Given the description of an element on the screen output the (x, y) to click on. 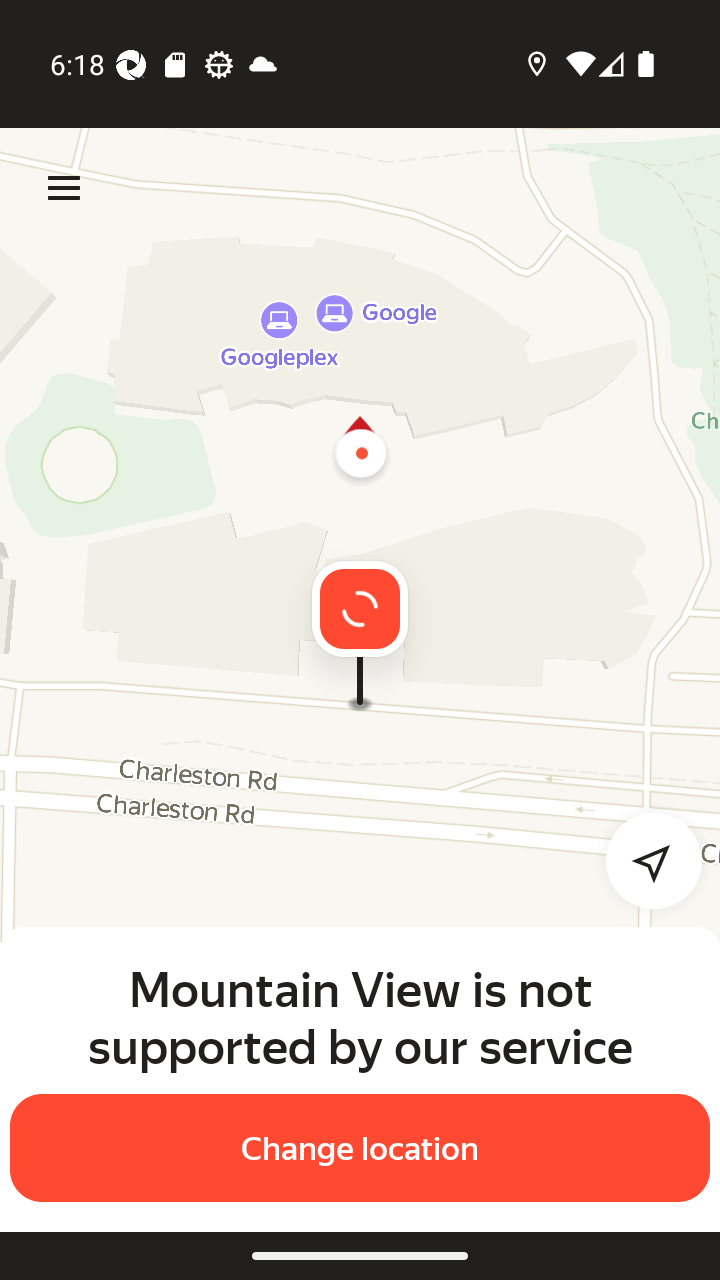
Menu Menu Menu (64, 188)
Detect my location (641, 860)
Mountain View is not supported by our service (360, 1017)
Change location (359, 1147)
